Given the description of an element on the screen output the (x, y) to click on. 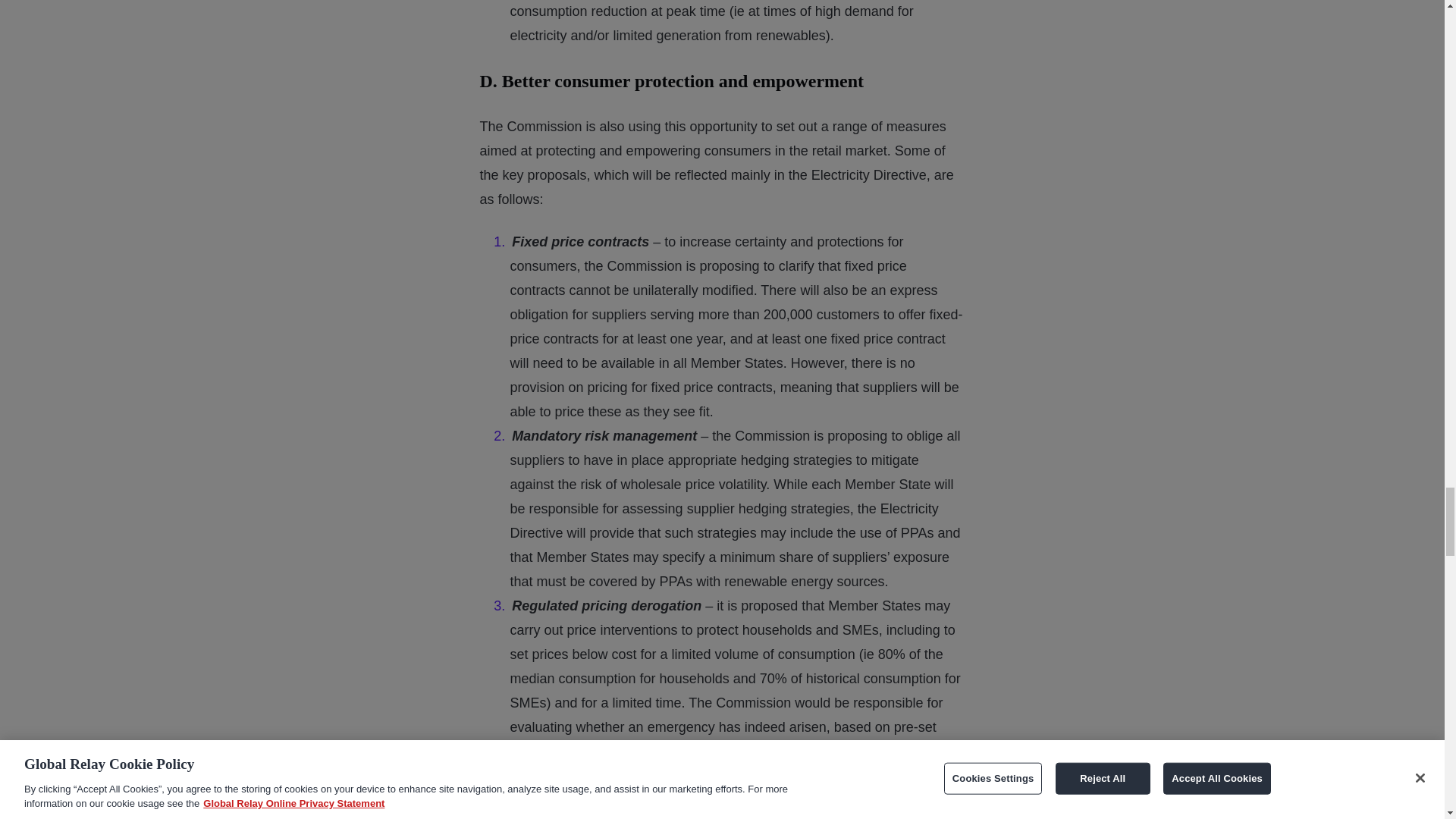
here (928, 775)
